Given the description of an element on the screen output the (x, y) to click on. 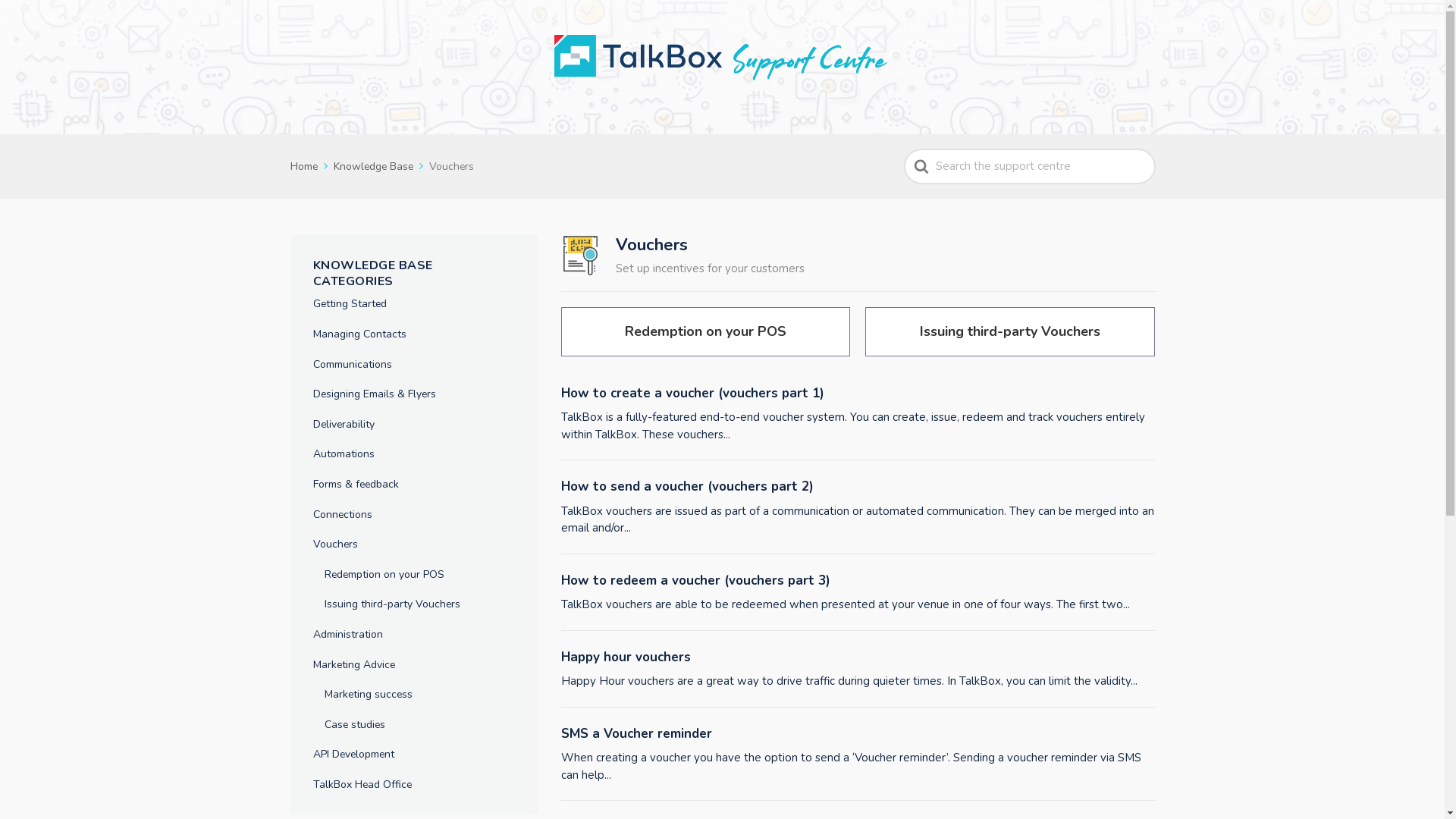
Communications Element type: text (351, 364)
Case studies Element type: text (354, 724)
Home Element type: text (309, 166)
Issuing third-party Vouchers Element type: text (1010, 331)
Redemption on your POS Element type: text (384, 574)
Marketing Advice Element type: text (353, 664)
Forms & feedback Element type: text (355, 484)
Issuing third-party Vouchers Element type: text (392, 604)
Redemption on your POS Element type: text (705, 331)
Knowledge Base Element type: text (379, 166)
Administration Element type: text (347, 634)
TalkBox Head Office Element type: text (361, 784)
Getting Started Element type: text (348, 303)
Connections Element type: text (341, 514)
API Development Element type: text (352, 754)
Marketing success Element type: text (368, 694)
Managing Contacts Element type: text (358, 334)
Automations Element type: text (342, 454)
Deliverability Element type: text (342, 424)
Designing Emails & Flyers Element type: text (373, 394)
Vouchers Element type: text (334, 544)
